Given the description of an element on the screen output the (x, y) to click on. 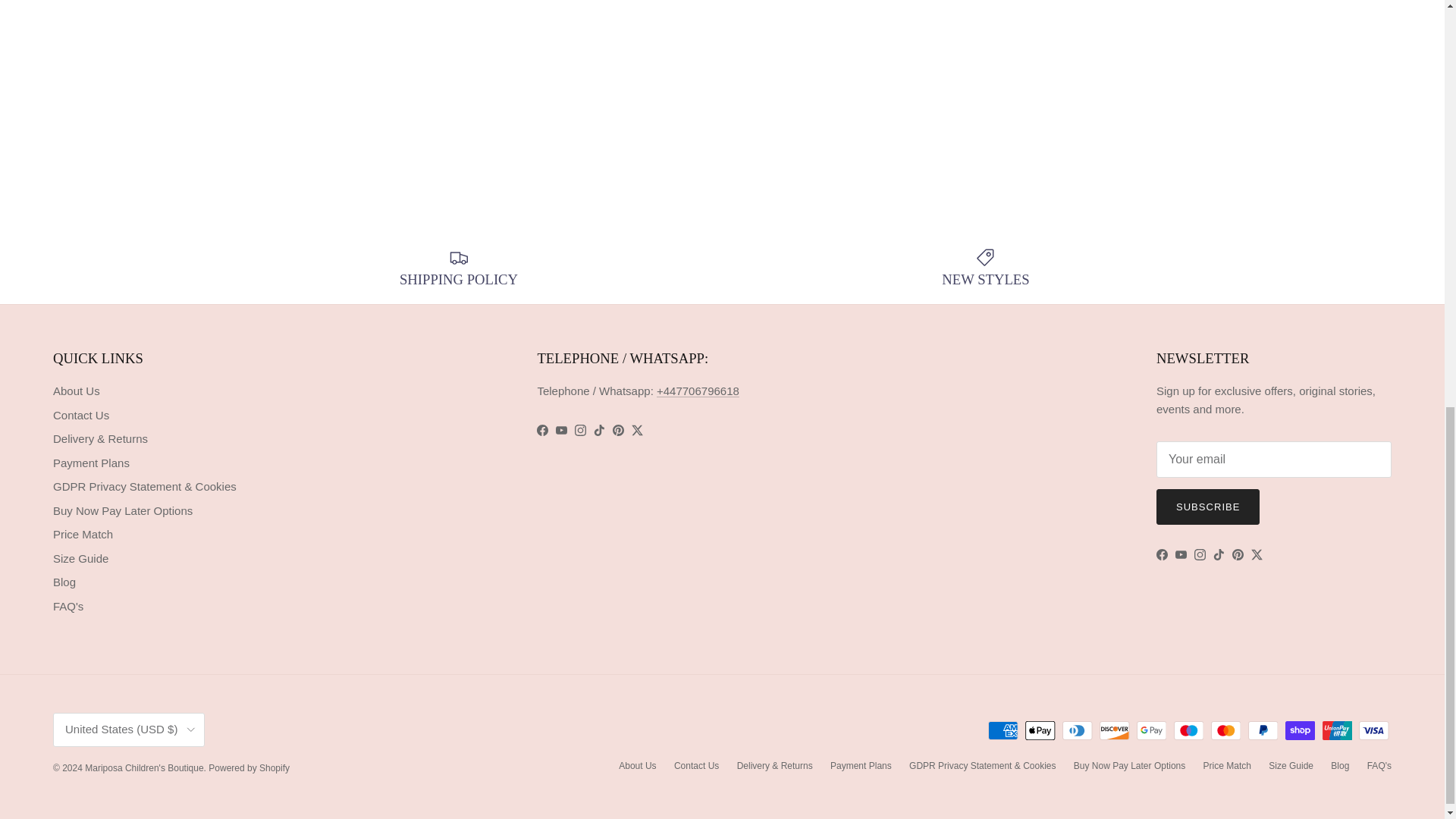
American Express (1002, 730)
Mariposa Children's Boutique on YouTube (561, 430)
Mariposa Children's Boutique on YouTube (1180, 554)
Mariposa Children's Boutique on TikTok (1218, 554)
Mariposa Children's Boutique on Facebook (542, 430)
Mariposa Children's Boutique on Pinterest (618, 430)
Diners Club (1077, 730)
Maestro (1188, 730)
Google Pay (1151, 730)
Mariposa Children's Boutique on Instagram (1199, 554)
Mariposa Children's Boutique on Facebook (1161, 554)
Mariposa Children's Boutique on Twitter (637, 430)
Mariposa Children's Boutique on Instagram (580, 430)
Discover (1114, 730)
Mariposa Children's Boutique on TikTok (599, 430)
